Given the description of an element on the screen output the (x, y) to click on. 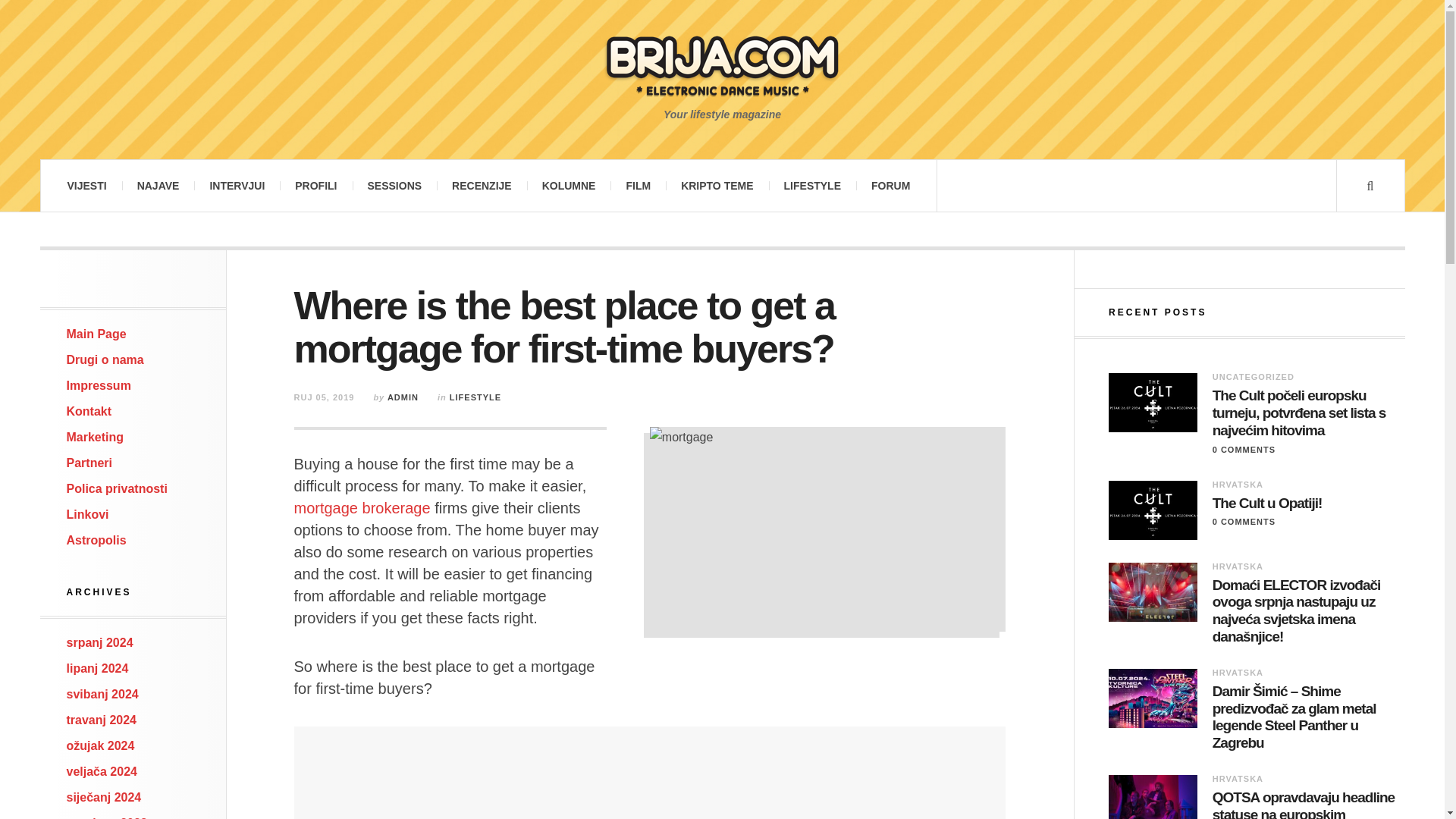
View all posts in Uncategorized (1253, 376)
Main Page (96, 333)
PROFILI (315, 185)
NAJAVE (158, 185)
Impressum (98, 385)
Drugi o nama (105, 359)
INTERVJUI (236, 185)
RECENZIJE (481, 185)
KOLUMNE (569, 185)
VIJESTI (85, 185)
SESSIONS (395, 185)
FILM (637, 185)
Brija Dot Com (721, 63)
View all posts in Hrvatska (1237, 565)
Go Home (96, 333)
